Given the description of an element on the screen output the (x, y) to click on. 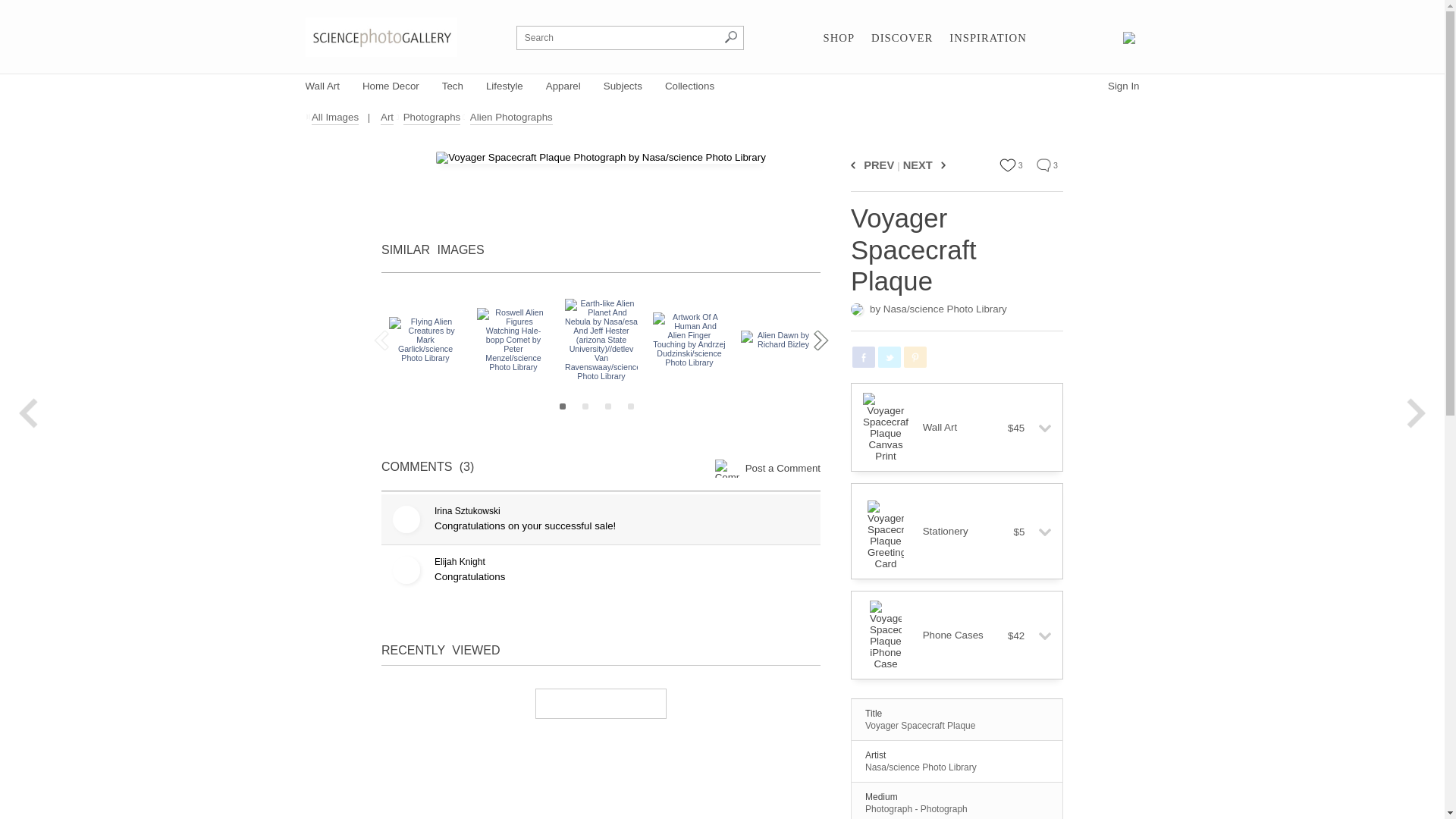
Science Photo Gallery - Buy Art Online (380, 36)
DISCOVER (901, 37)
Share Product on Twitter (889, 356)
Share Product on Facebook (863, 356)
Next Image (940, 164)
Previous Image (855, 164)
INSPIRATION (987, 37)
Expand Product (1039, 428)
SHOP (838, 37)
Share Product on Pinterest (915, 356)
